Given the description of an element on the screen output the (x, y) to click on. 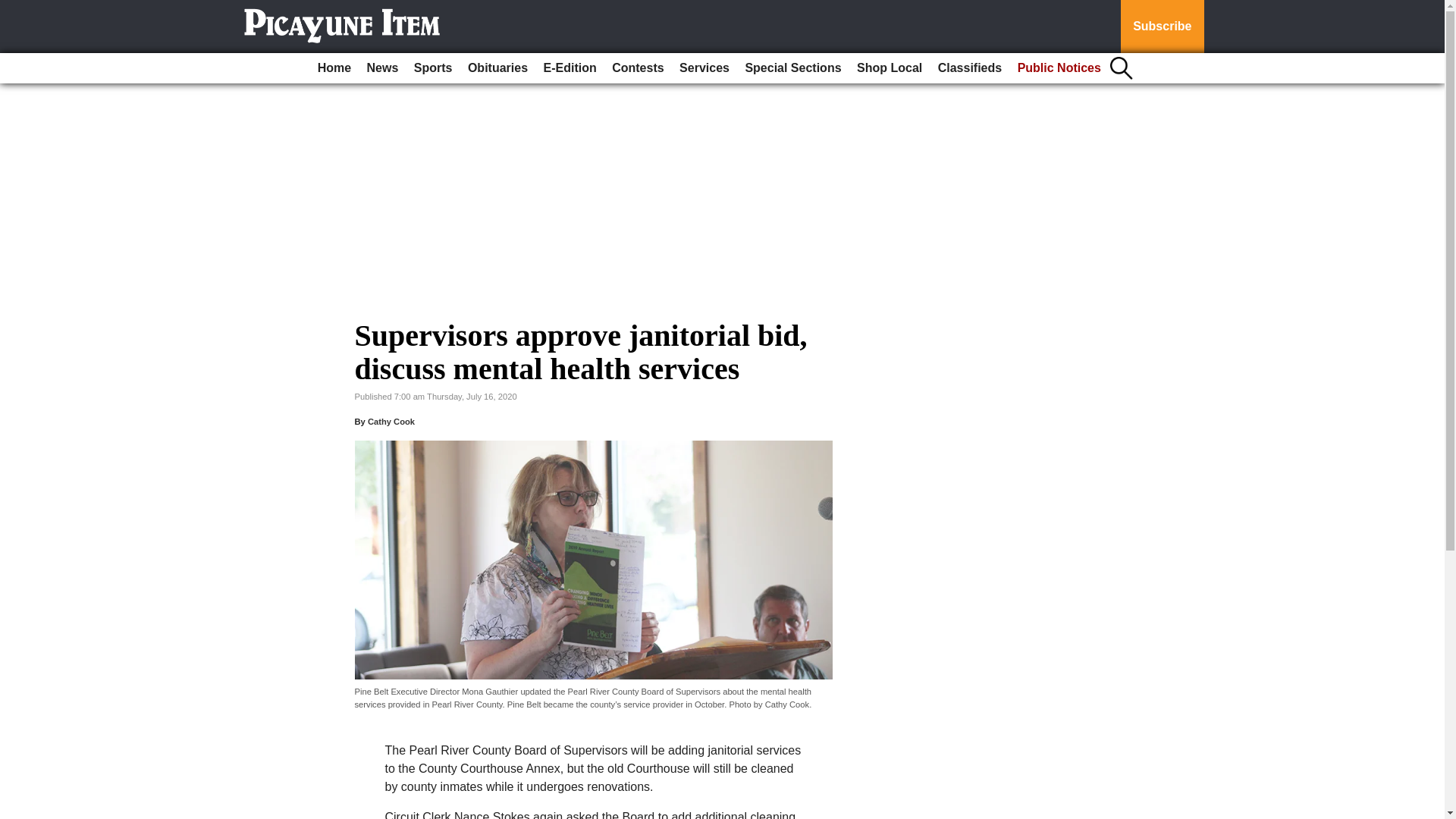
Services (703, 68)
Special Sections (792, 68)
Sports (432, 68)
Home (333, 68)
News (382, 68)
E-Edition (569, 68)
Obituaries (497, 68)
Classifieds (969, 68)
Shop Local (889, 68)
Go (13, 9)
